Given the description of an element on the screen output the (x, y) to click on. 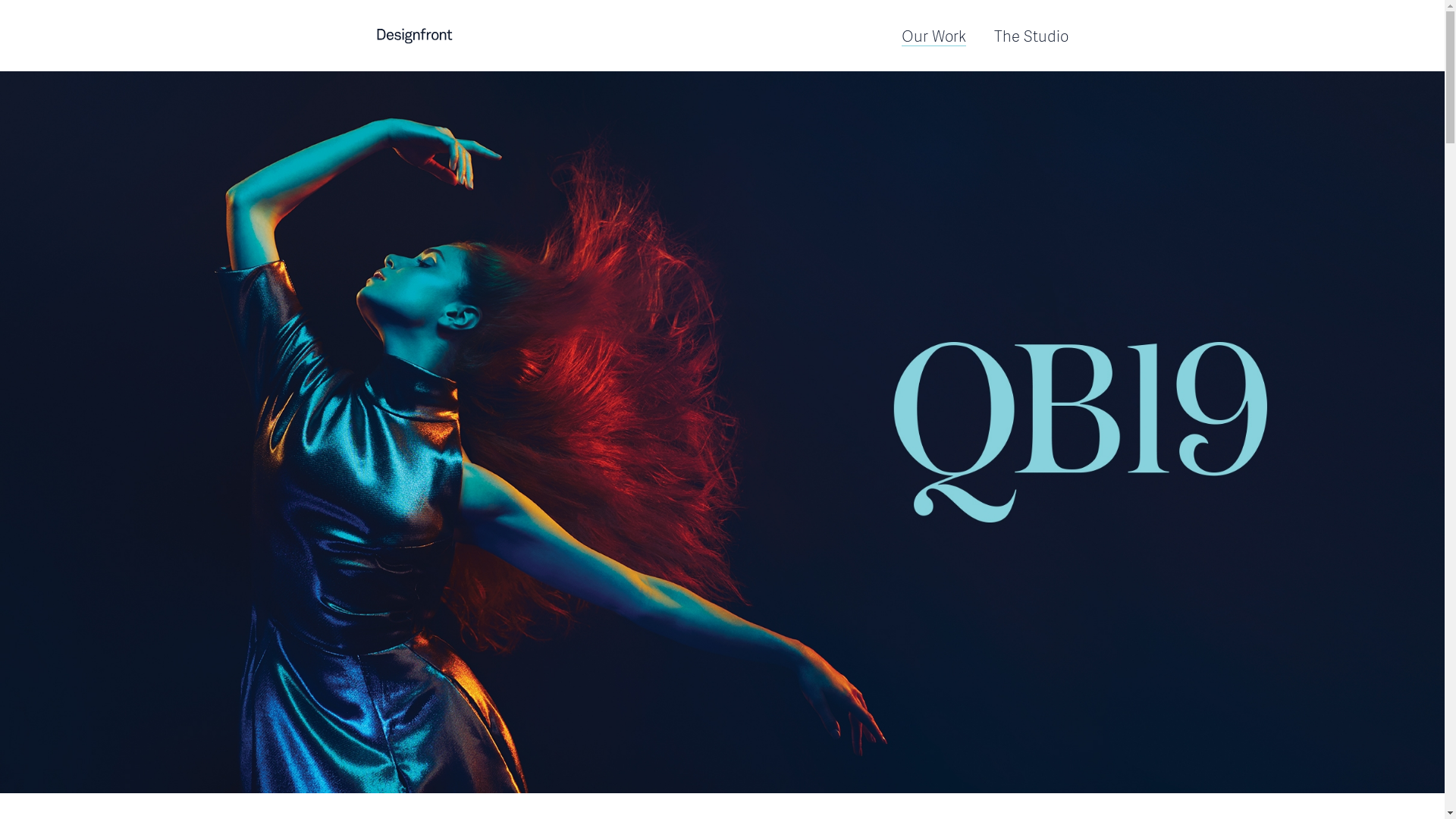
The Studio Element type: text (1030, 35)
Our Work Element type: text (932, 35)
